Given the description of an element on the screen output the (x, y) to click on. 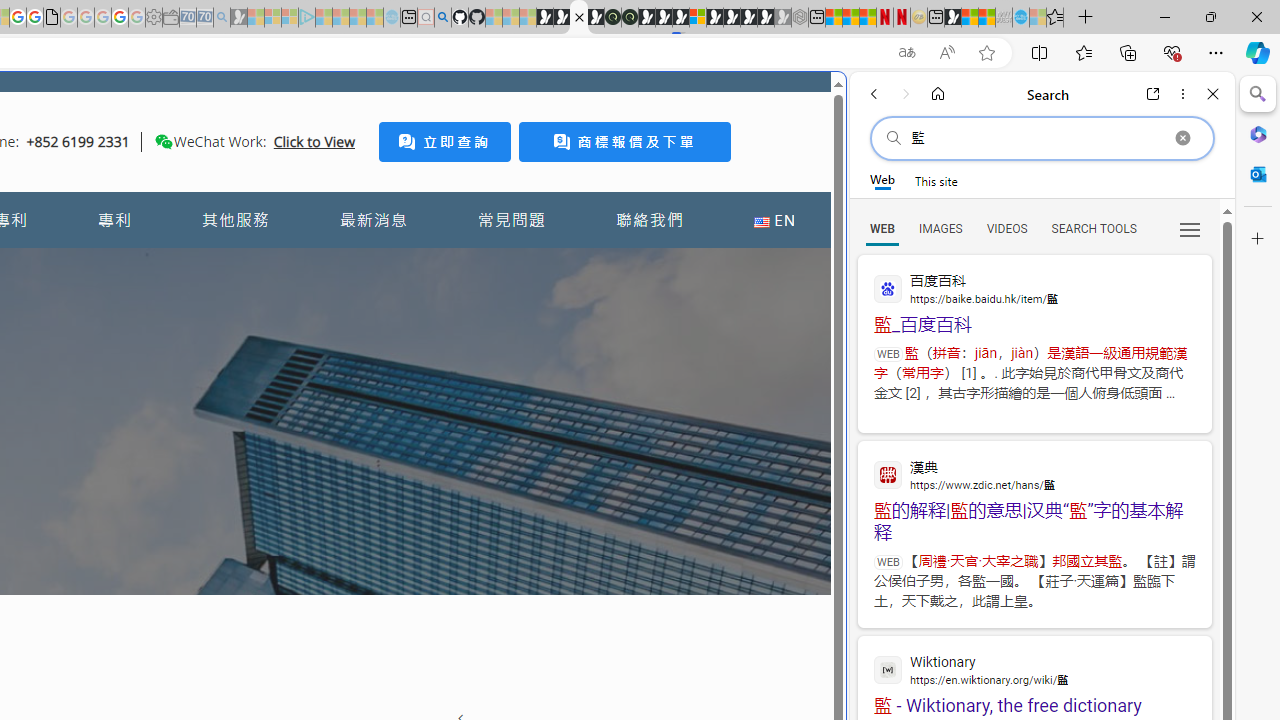
github - Search (442, 17)
EN (774, 220)
